Given the description of an element on the screen output the (x, y) to click on. 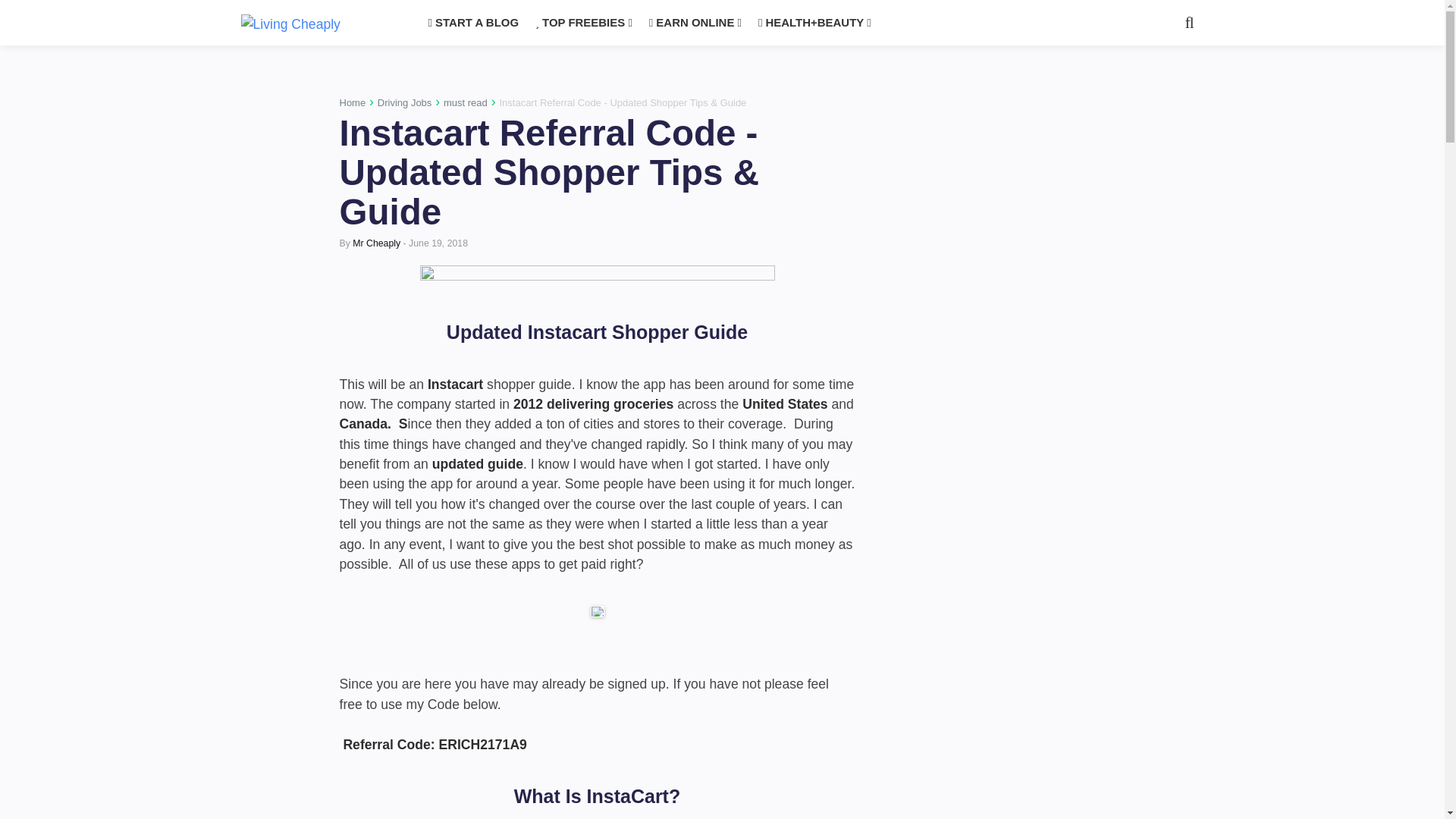
Home (352, 102)
June 19, 2018 (438, 243)
Driving Jobs (404, 102)
START A BLOG (473, 22)
TOP FREEBIES (583, 22)
must read (465, 102)
EARN ONLINE (695, 22)
Earn Online (695, 22)
Mr Cheaply (376, 243)
Start A Blog (473, 22)
